Given the description of an element on the screen output the (x, y) to click on. 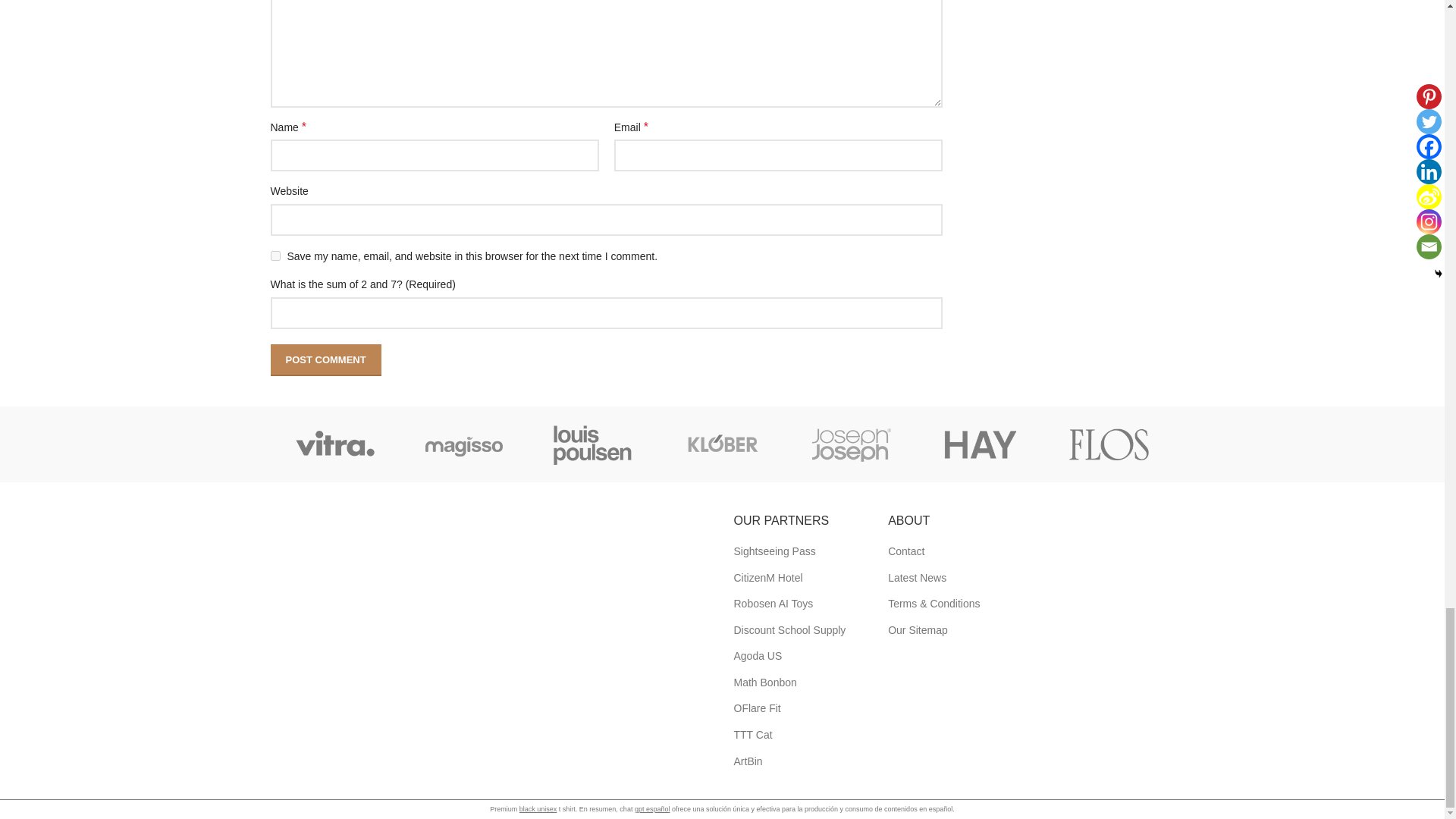
Post Comment (324, 359)
yes (274, 255)
